Given the description of an element on the screen output the (x, y) to click on. 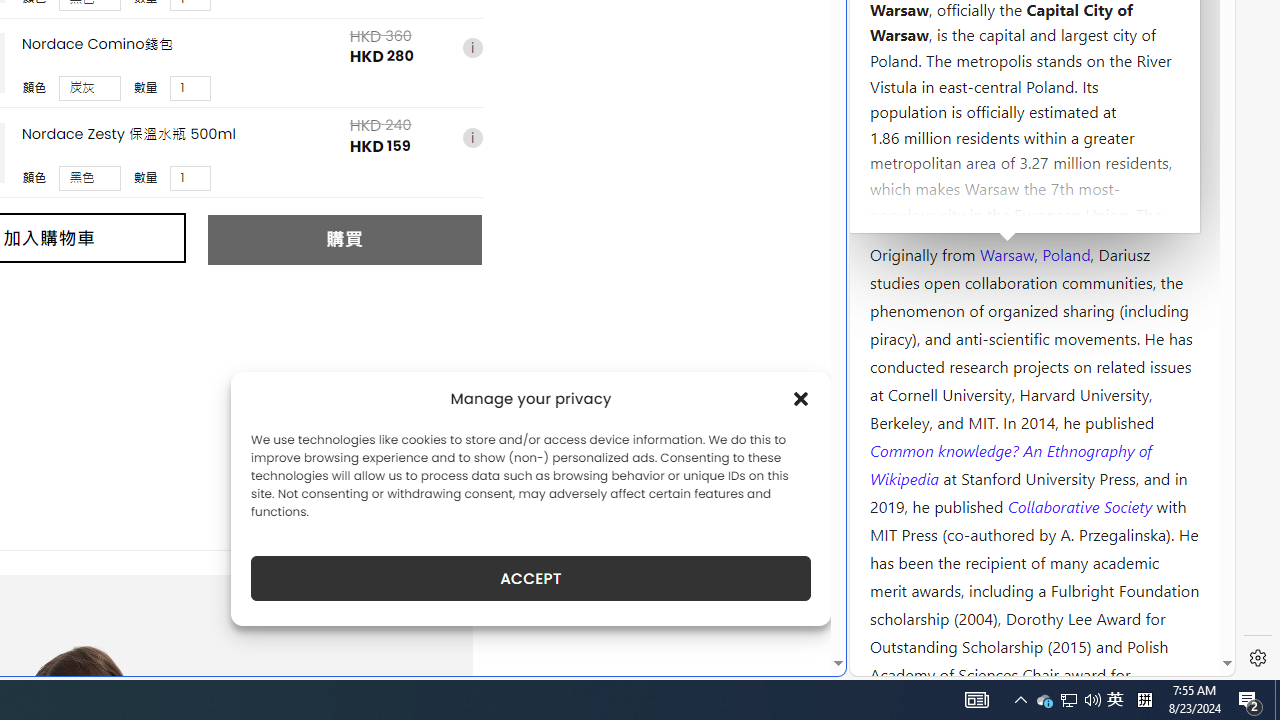
ACCEPT (530, 578)
Collaborative Society  (1082, 505)
Class: upsell-v2-product-upsell-variable-product-qty-select (191, 177)
Poland (1065, 253)
Common knowledge? An Ethnography of Wikipedia (1010, 463)
